Given the description of an element on the screen output the (x, y) to click on. 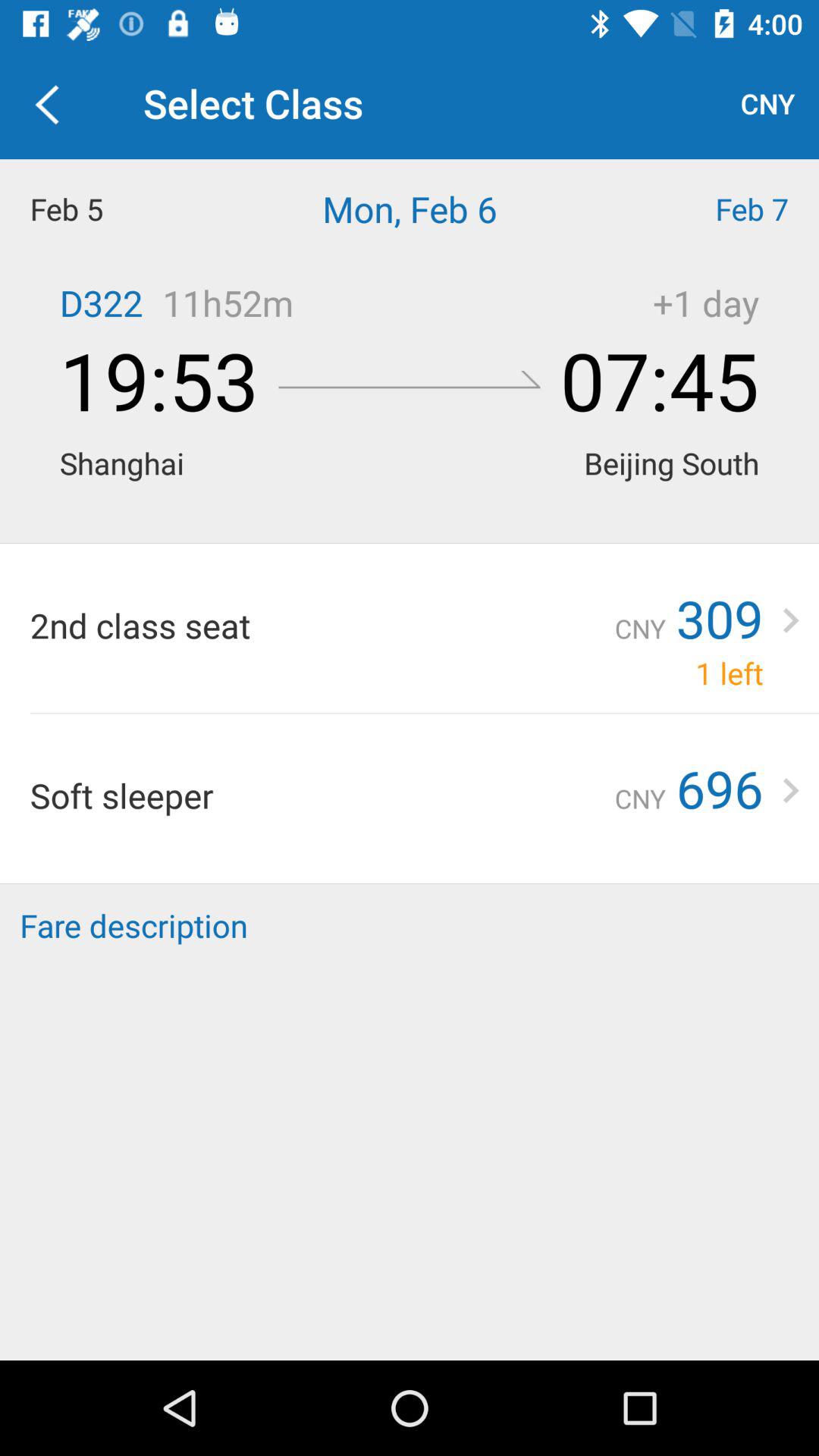
tap the icon next to the mon, feb 6 icon (716, 208)
